Given the description of an element on the screen output the (x, y) to click on. 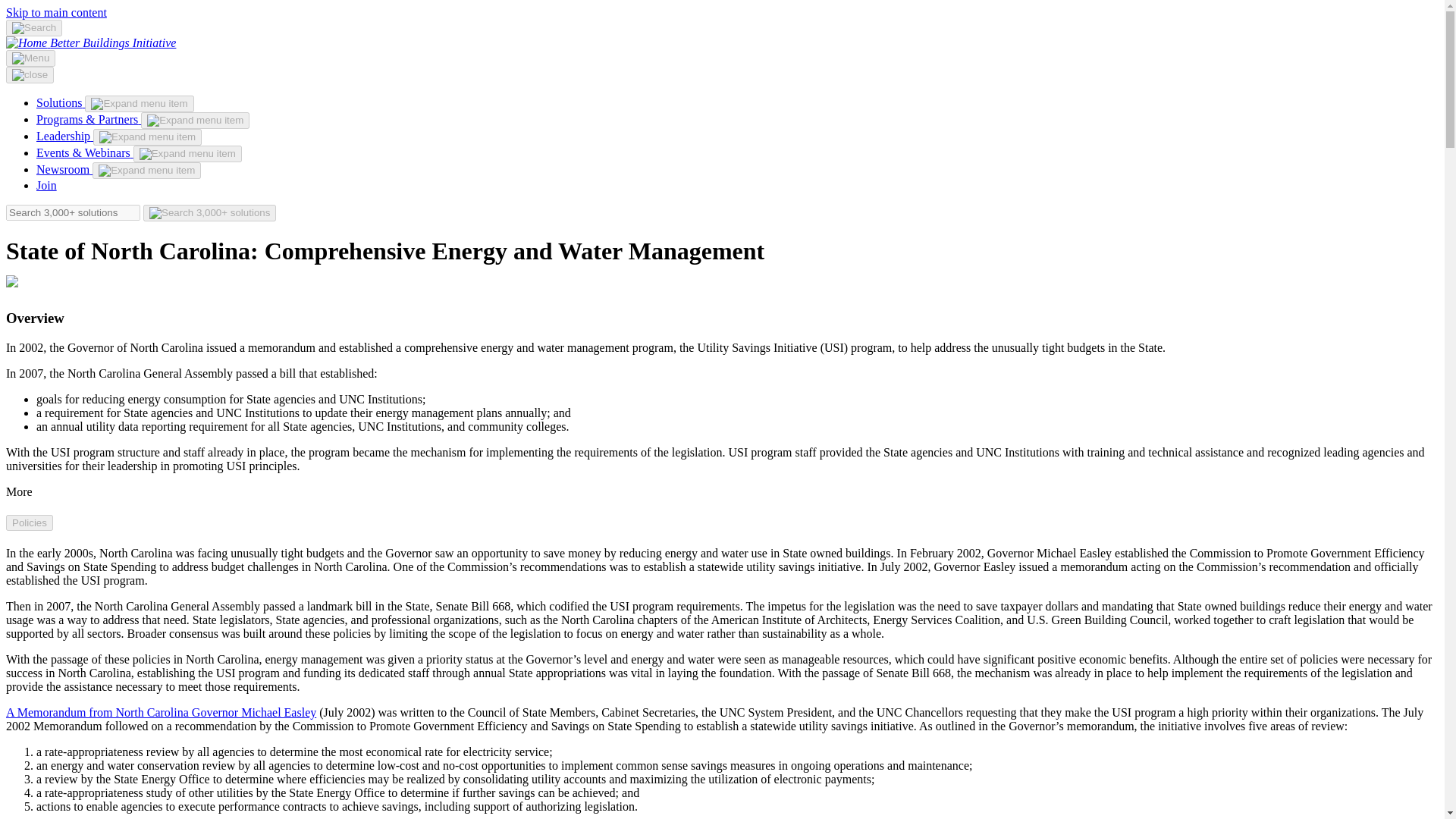
Newsroom (64, 169)
Solutions (60, 102)
Better Buildings Initiative (112, 42)
Policies (28, 522)
Skip to main content (55, 11)
Home (27, 42)
Leadership (64, 135)
More (18, 491)
Join (46, 185)
Home (112, 42)
A Memorandum from North Carolina Governor Michael Easley (160, 712)
